Given the description of an element on the screen output the (x, y) to click on. 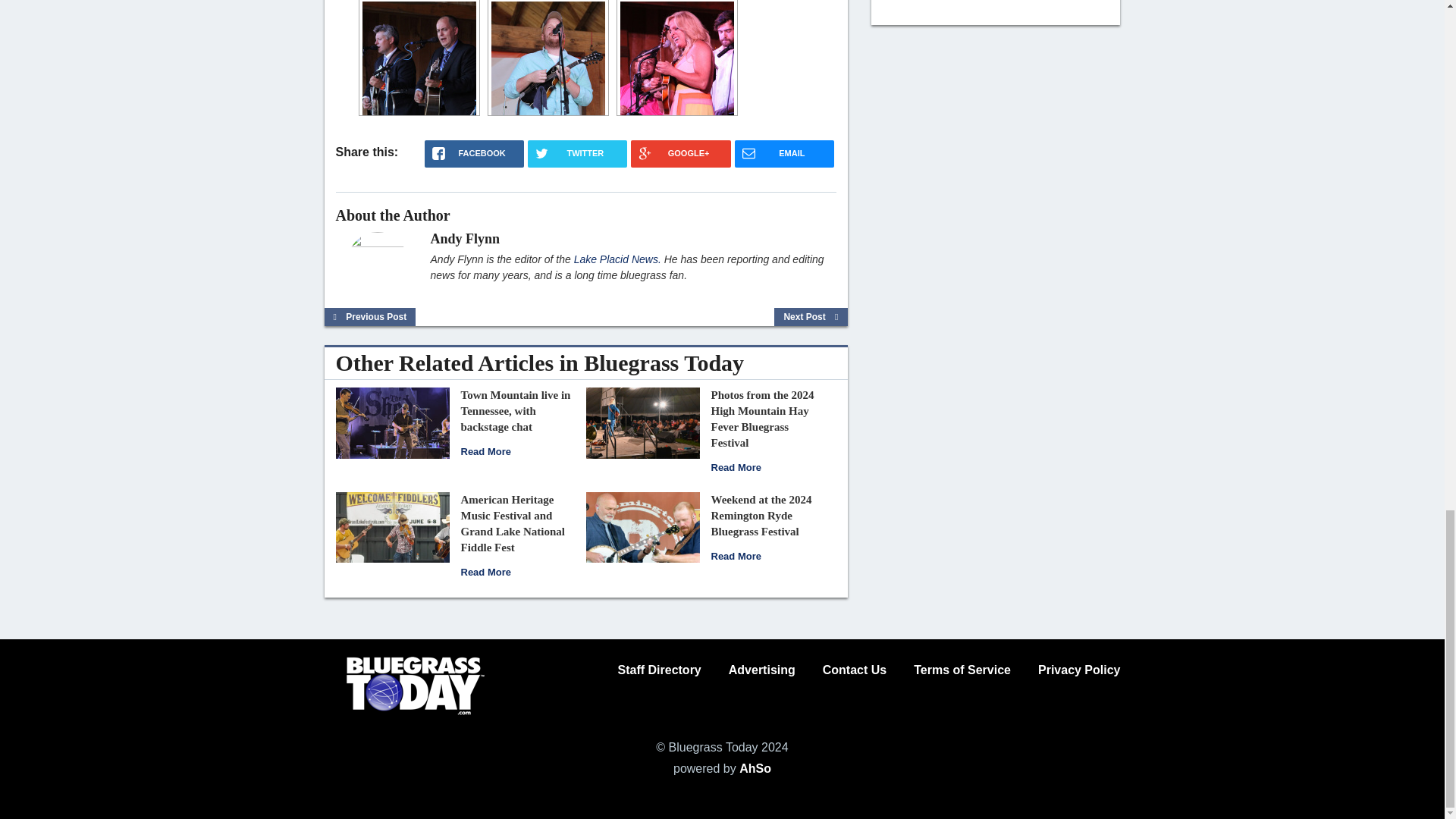
Town Mountain live in Tennessee, with backstage chat (391, 421)
Town Mountain live in Tennessee, with backstage chat (486, 451)
Town Mountain live in Tennessee, with backstage chat (515, 411)
